Given the description of an element on the screen output the (x, y) to click on. 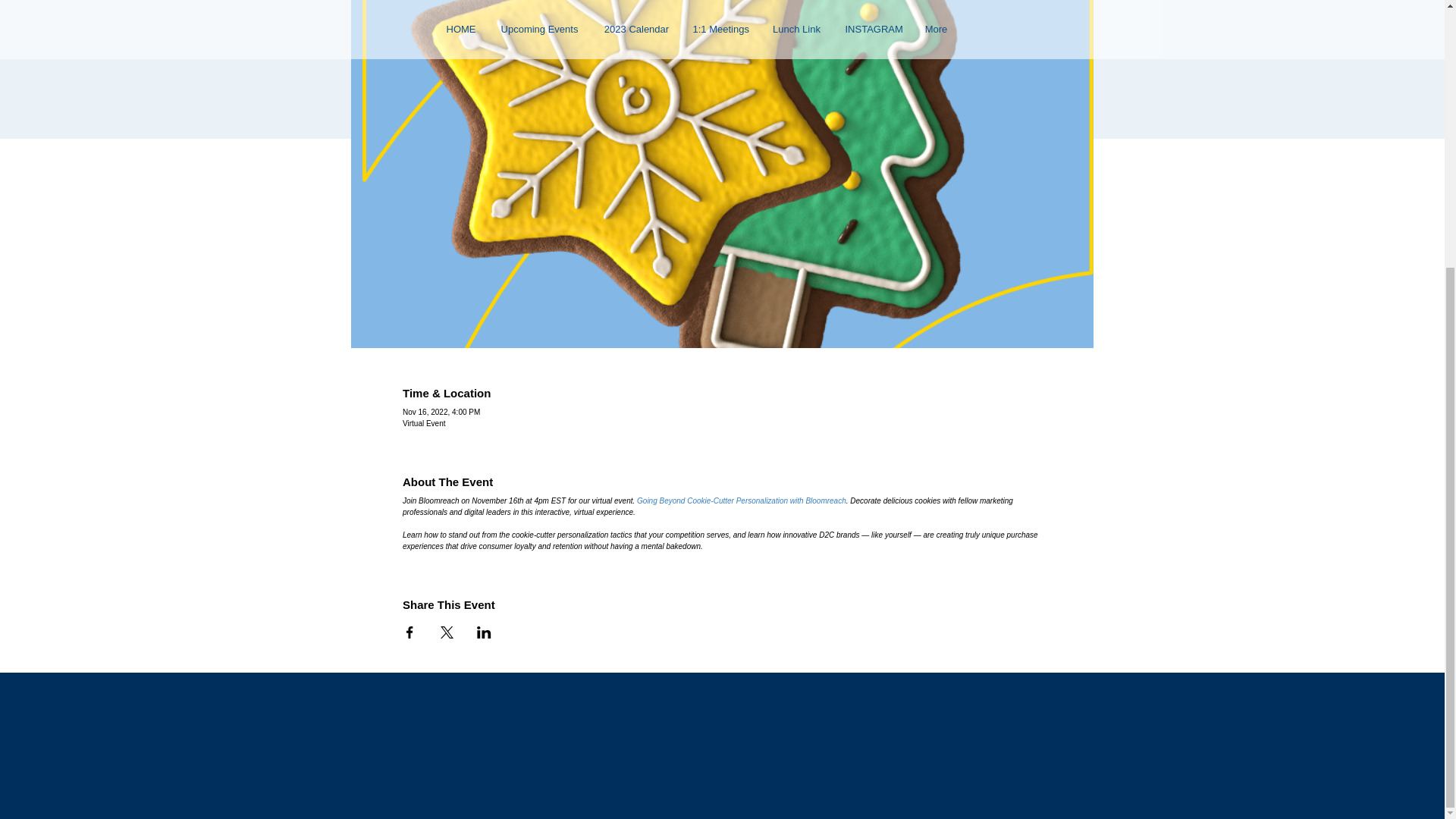
Going Beyond Cookie-Cutter Personalization with Bloomreach (741, 500)
